Given the description of an element on the screen output the (x, y) to click on. 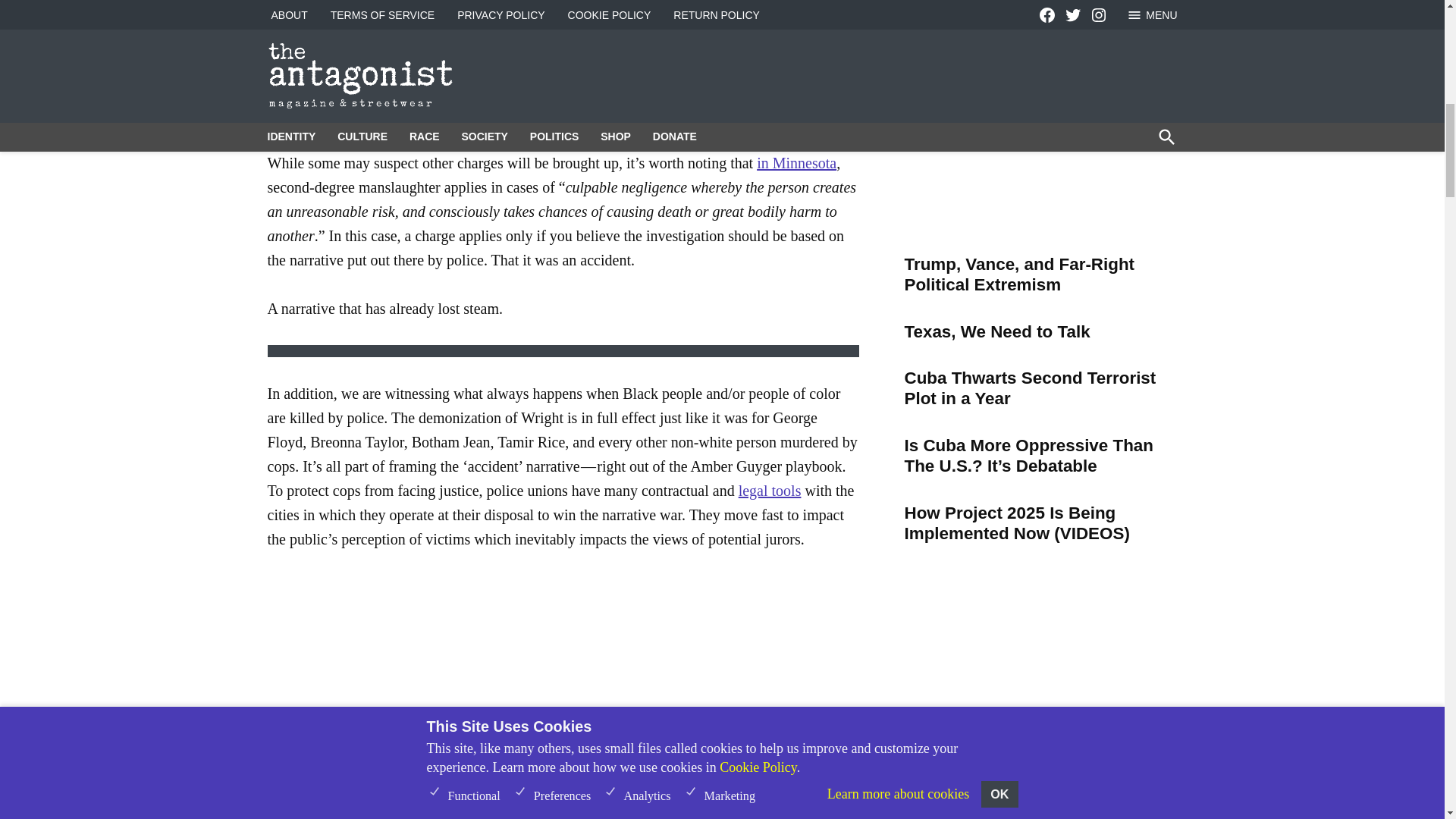
in Minnesota (796, 162)
charged Potter (630, 89)
3rd party ad content (1040, 145)
legal tools (770, 490)
